Given the description of an element on the screen output the (x, y) to click on. 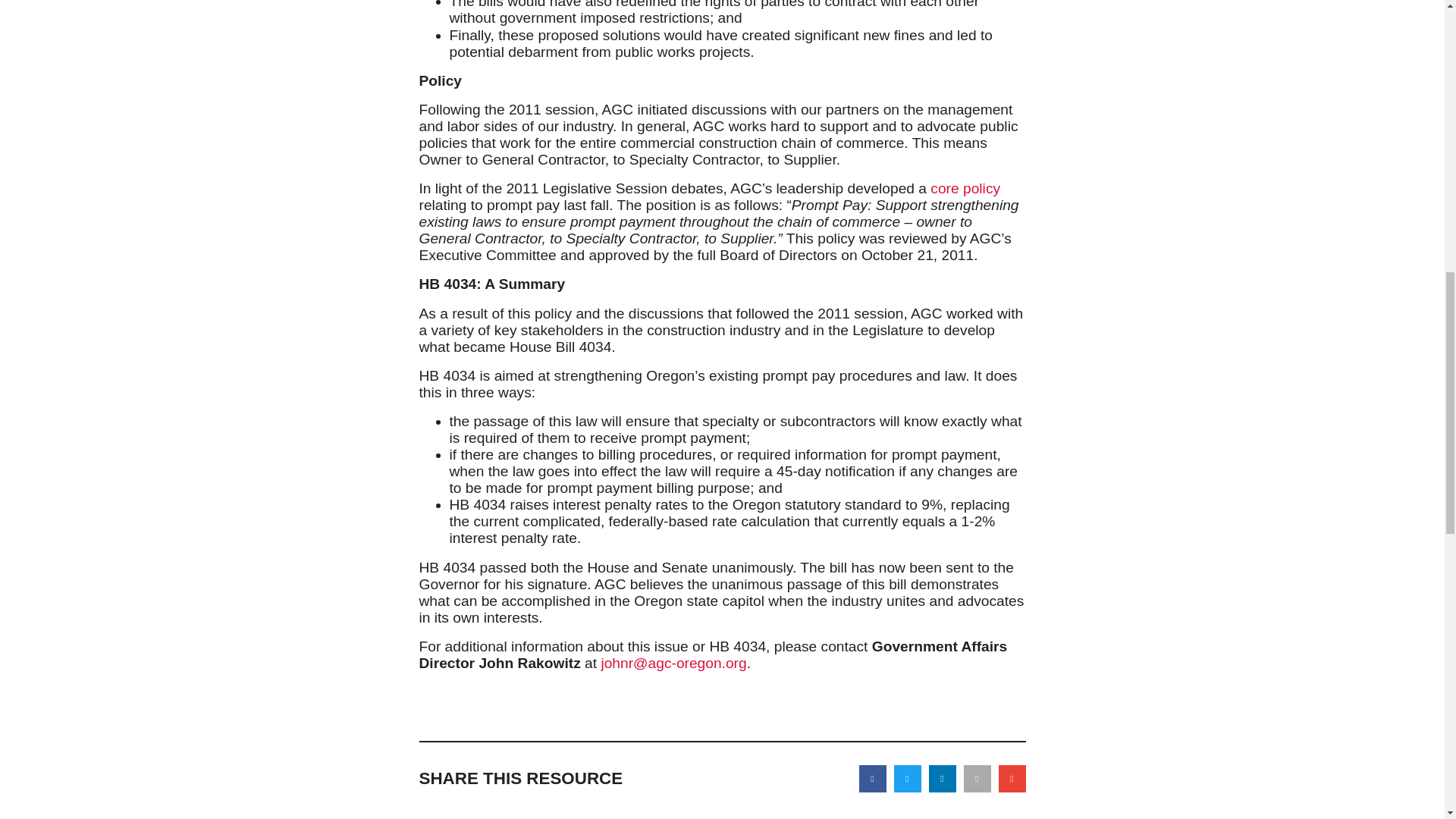
AGC Core Legislative Policies (965, 188)
